Given the description of an element on the screen output the (x, y) to click on. 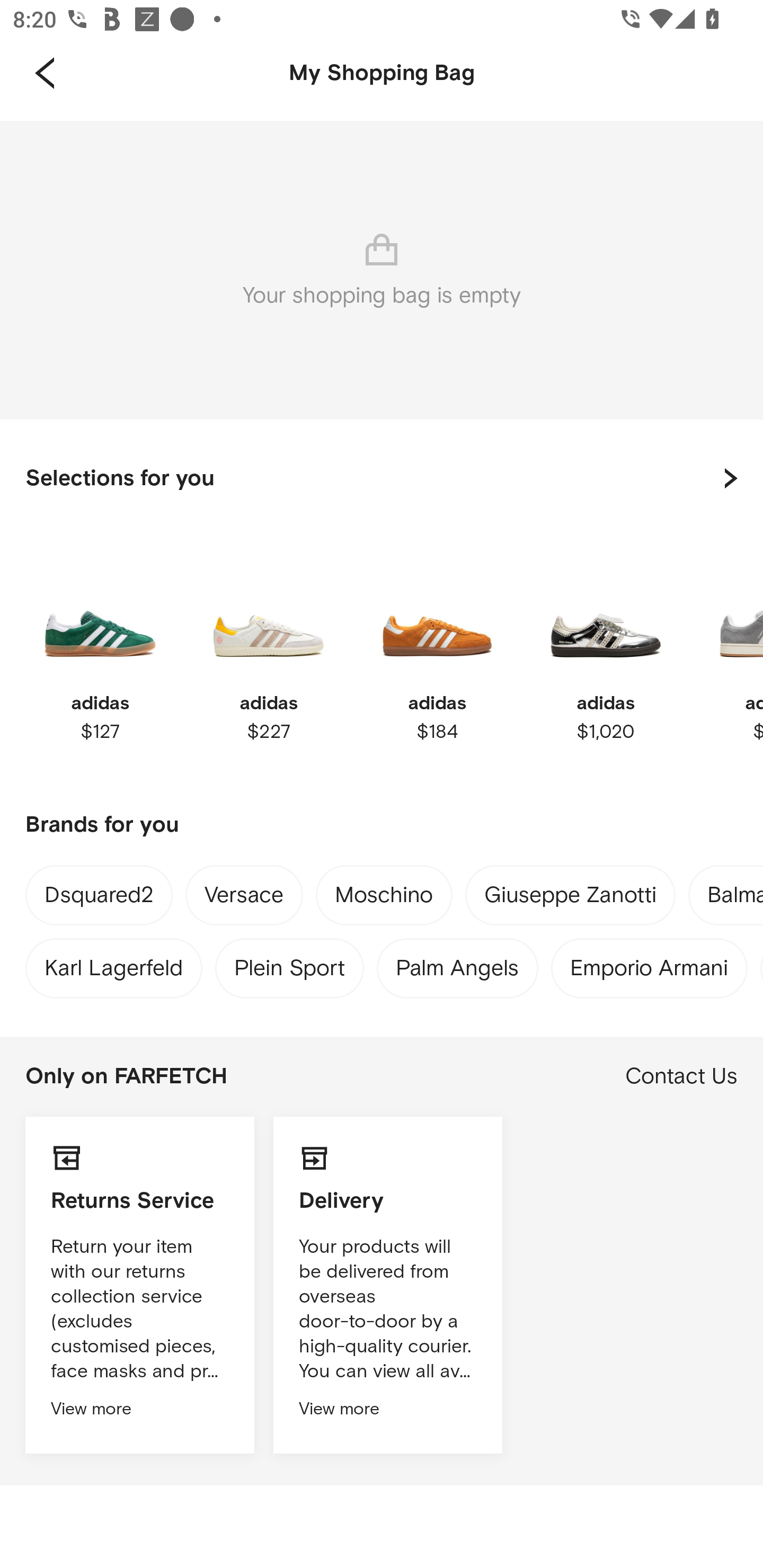
Selections for you (381, 477)
adidas $127 (100, 648)
adidas $227 (268, 648)
adidas $184 (436, 648)
adidas $1,020 (605, 648)
Brands for you (381, 825)
Dsquared2 (98, 897)
Versace (243, 898)
Moschino (383, 898)
Giuseppe Zanotti (570, 898)
Karl Lagerfeld (113, 963)
Plein Sport (289, 963)
Palm Angels (457, 963)
Emporio Armani (648, 963)
Contact Us (680, 1076)
